Given the description of an element on the screen output the (x, y) to click on. 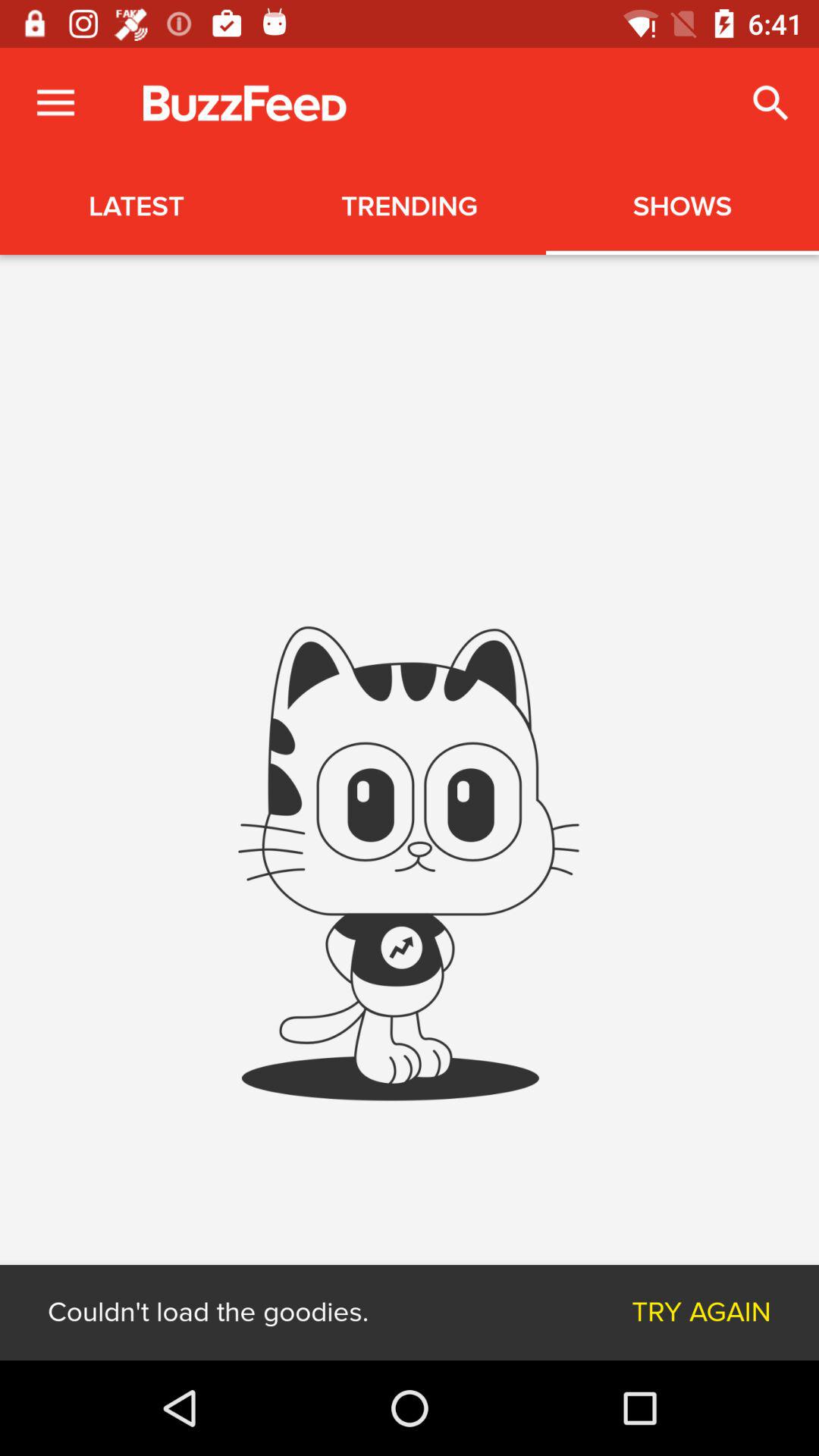
turn on the icon above the shows item (771, 103)
